Given the description of an element on the screen output the (x, y) to click on. 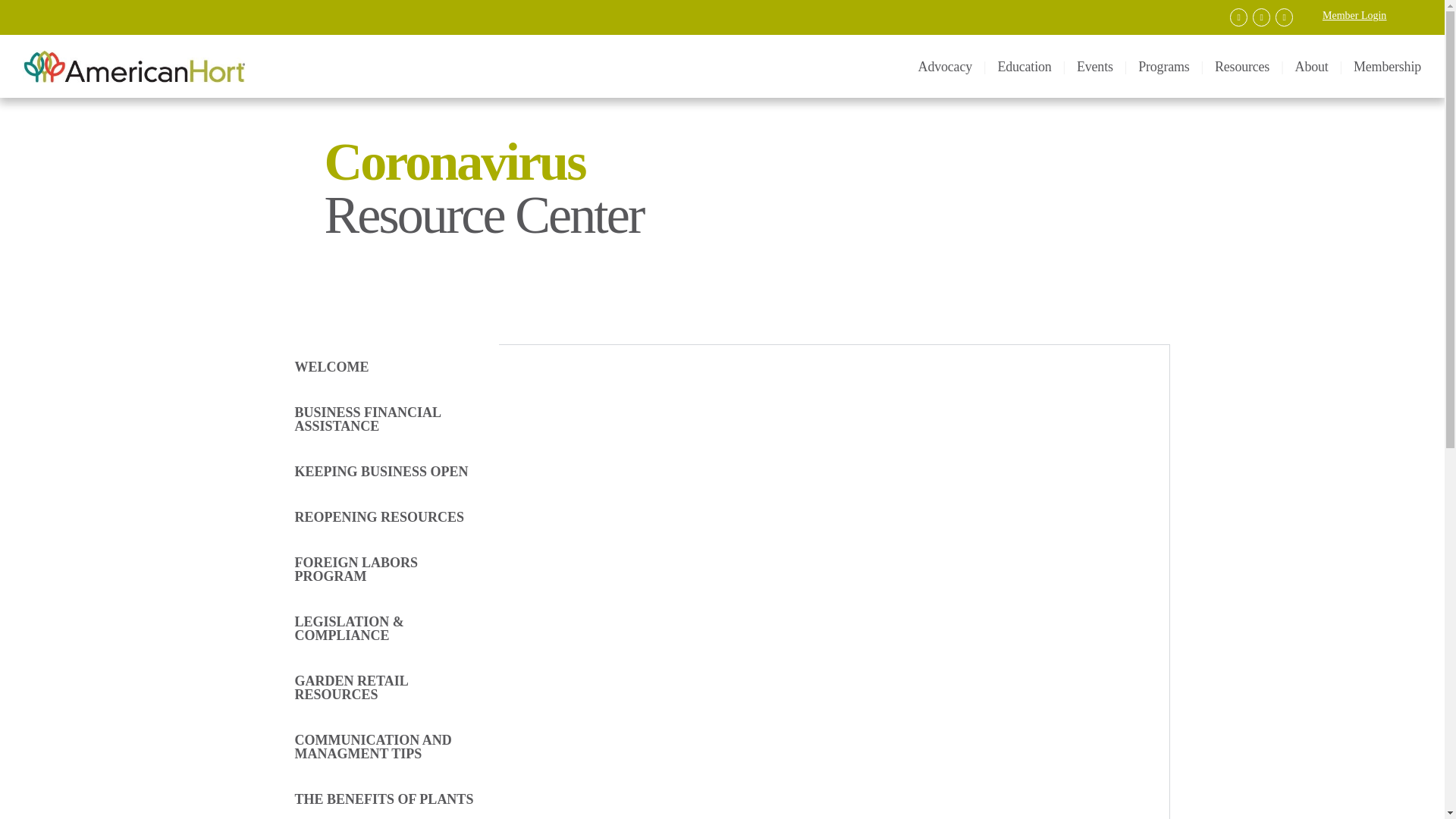
Linkedin (1263, 17)
Home (181, 65)
Facebook (1240, 17)
Advocacy (944, 66)
Member Login (1354, 15)
Instagram (1286, 17)
Education (1023, 66)
